Given the description of an element on the screen output the (x, y) to click on. 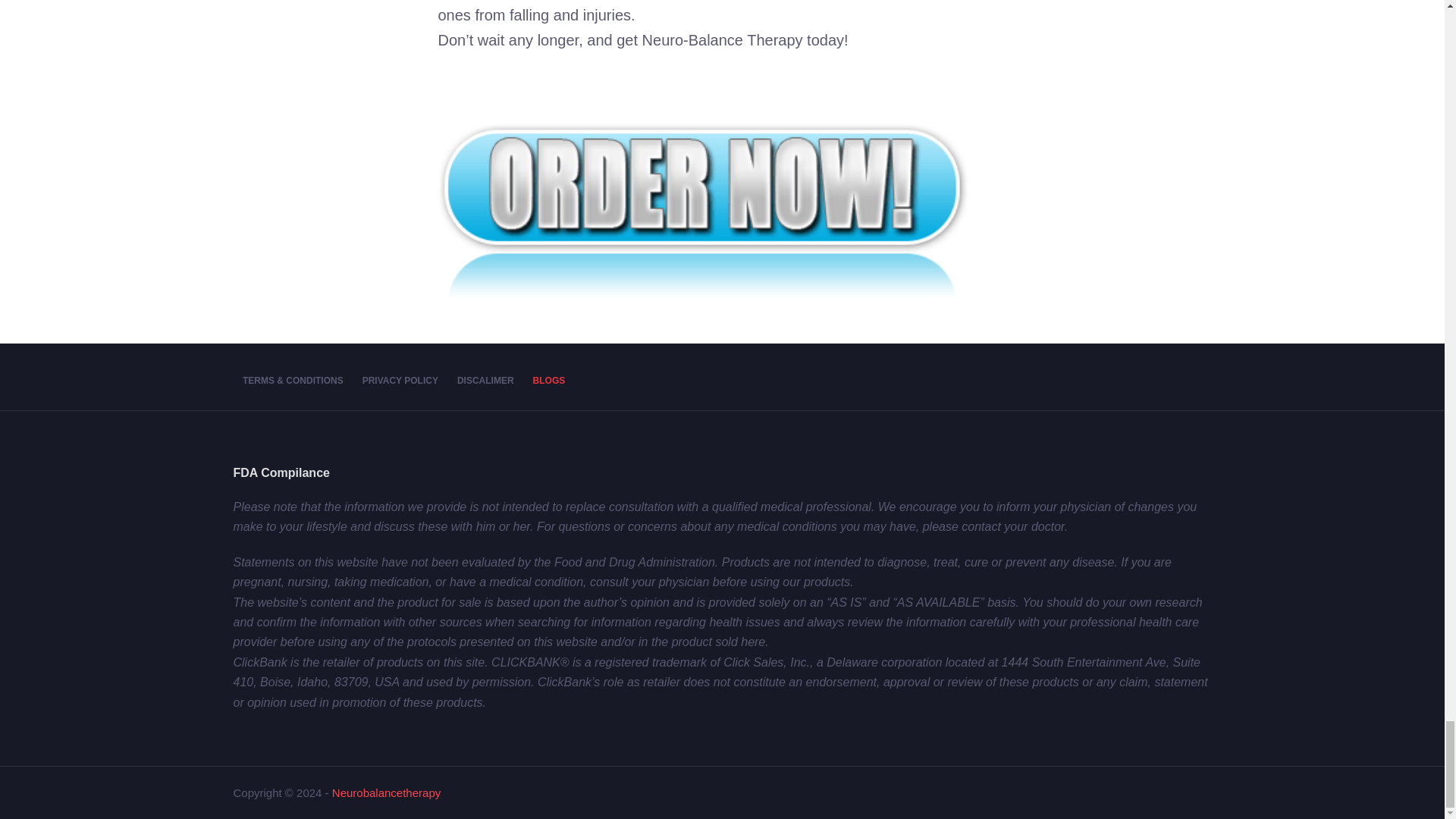
DISCALIMER (484, 381)
PRIVACY POLICY (399, 381)
BLOGS (548, 381)
Neurobalancetherapy (386, 792)
